Given the description of an element on the screen output the (x, y) to click on. 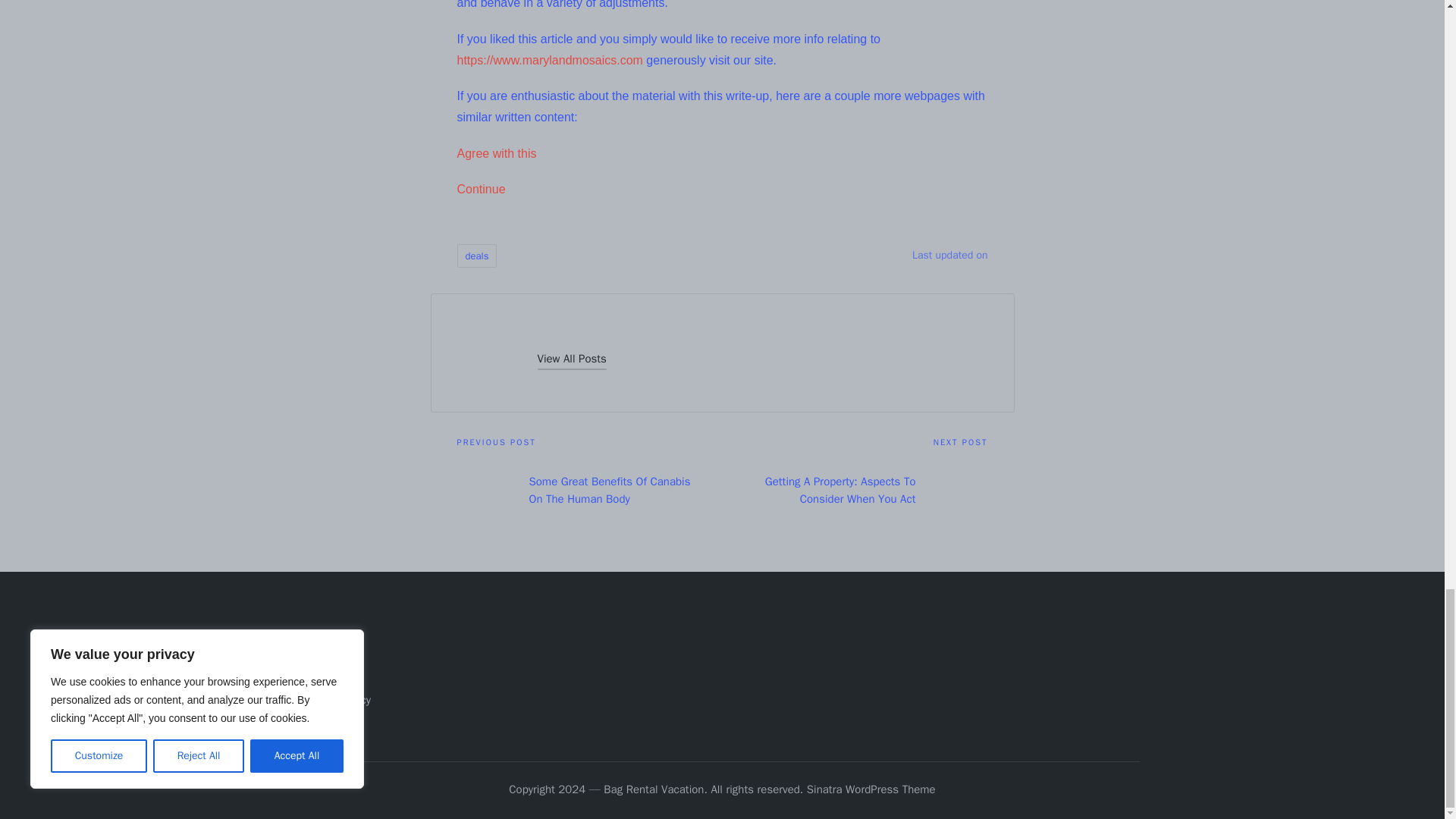
Privacy Policy (337, 699)
Contact (323, 674)
View All Posts (571, 358)
deals (476, 255)
About (318, 650)
Continue (481, 188)
Sinatra WordPress Theme (871, 790)
Some Great Benefits Of Canabis On The Human Body (589, 489)
Agree with this (496, 153)
Getting A Property: Aspects To Consider When You Act (854, 489)
